Given the description of an element on the screen output the (x, y) to click on. 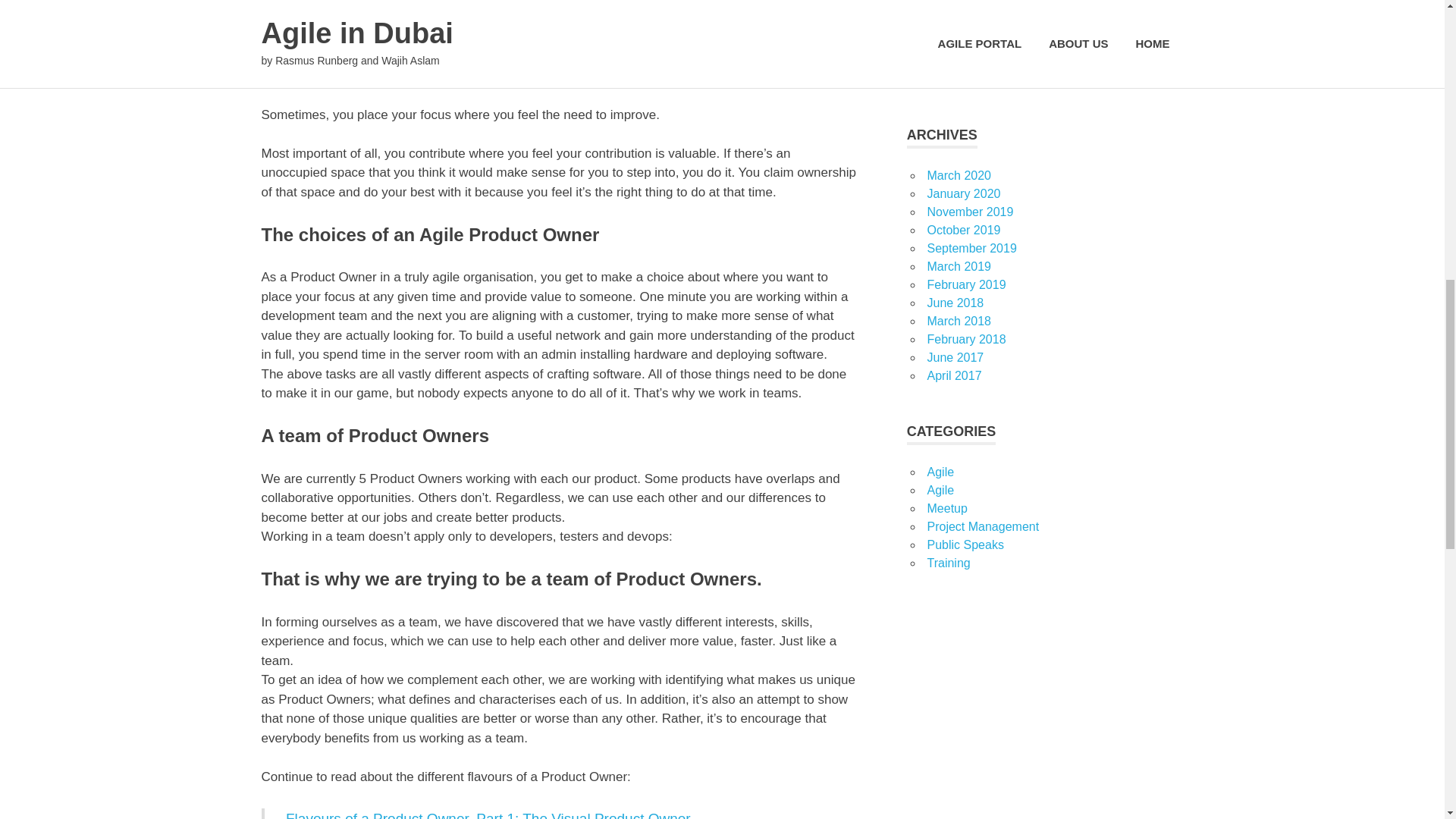
Agile Meetup Dubai (1118, 6)
Servant Leadership for traditional managers (1036, 33)
Rasmus Runberg (974, 24)
January 2020 (963, 193)
Wajih Aslam (959, 60)
March 2020 (958, 174)
October 2019 (963, 229)
November 2019 (969, 211)
Servant Leadership for traditional managers (1022, 69)
September 2019 (971, 247)
